Given the description of an element on the screen output the (x, y) to click on. 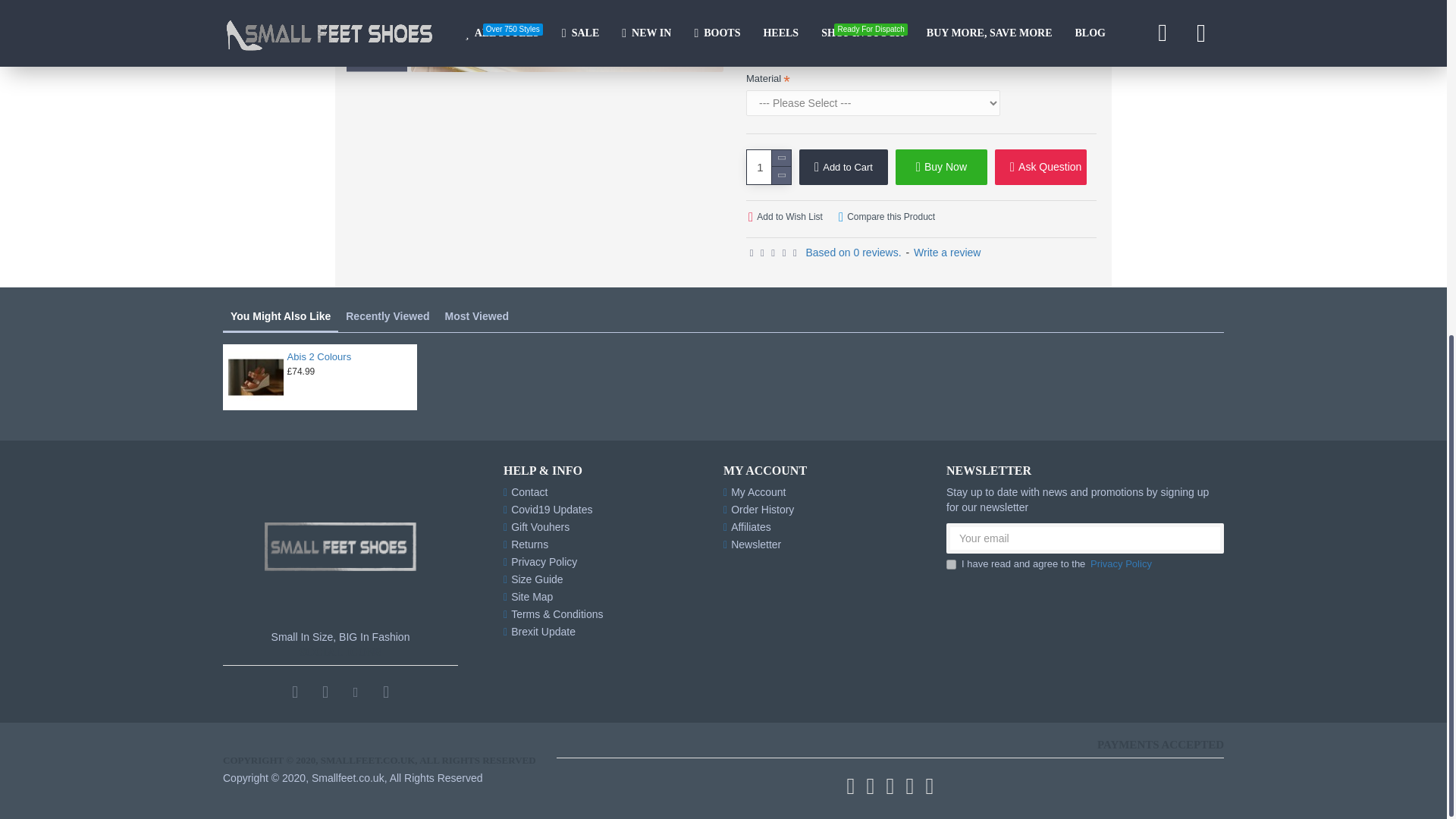
Mopi 2 Finishes (622, 36)
1 (768, 166)
1 (951, 564)
